Given the description of an element on the screen output the (x, y) to click on. 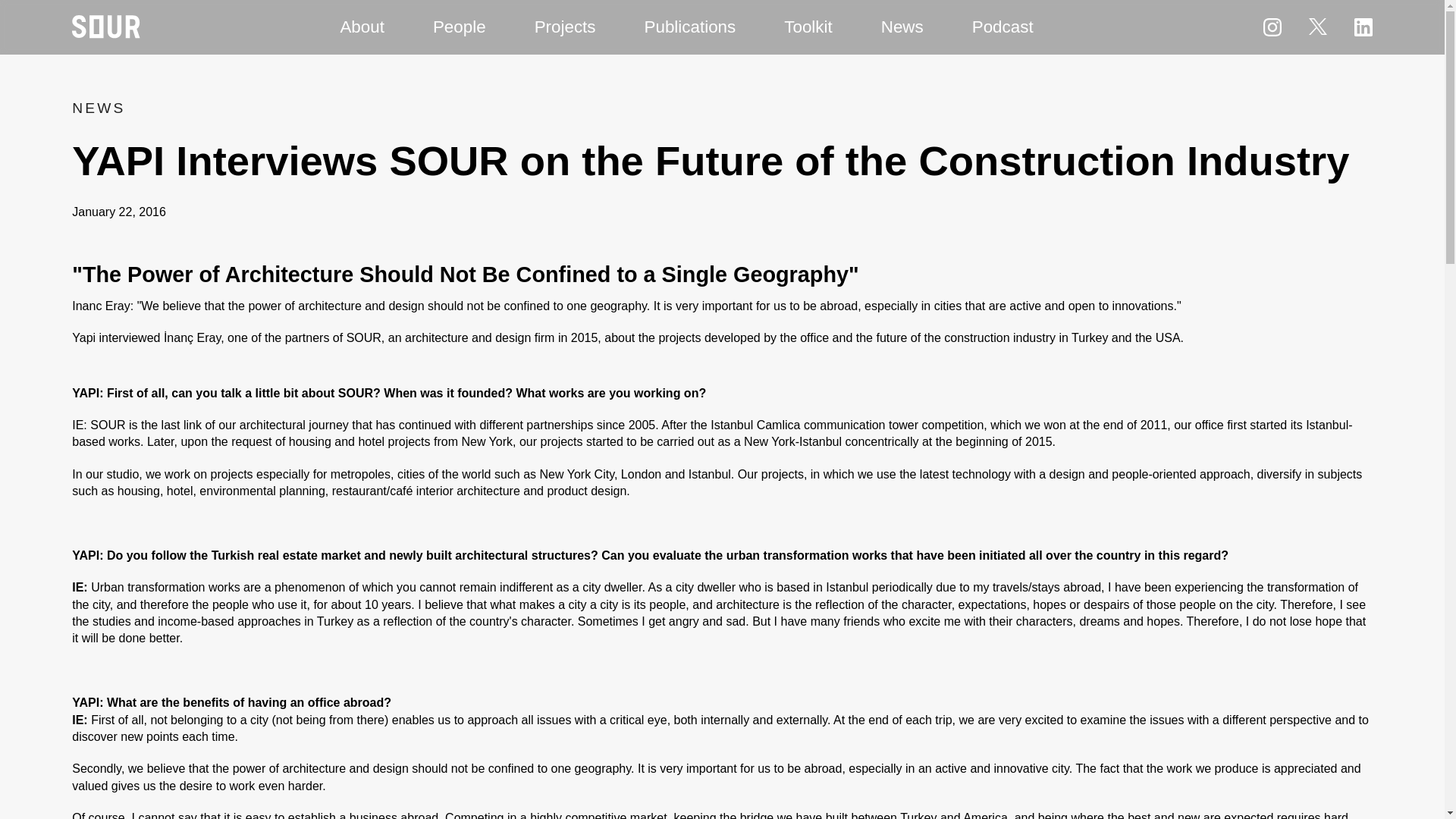
Publications (690, 26)
Toolkit (808, 26)
People (460, 26)
Projects (565, 26)
About (362, 26)
News (902, 26)
Podcast (1002, 26)
